Given the description of an element on the screen output the (x, y) to click on. 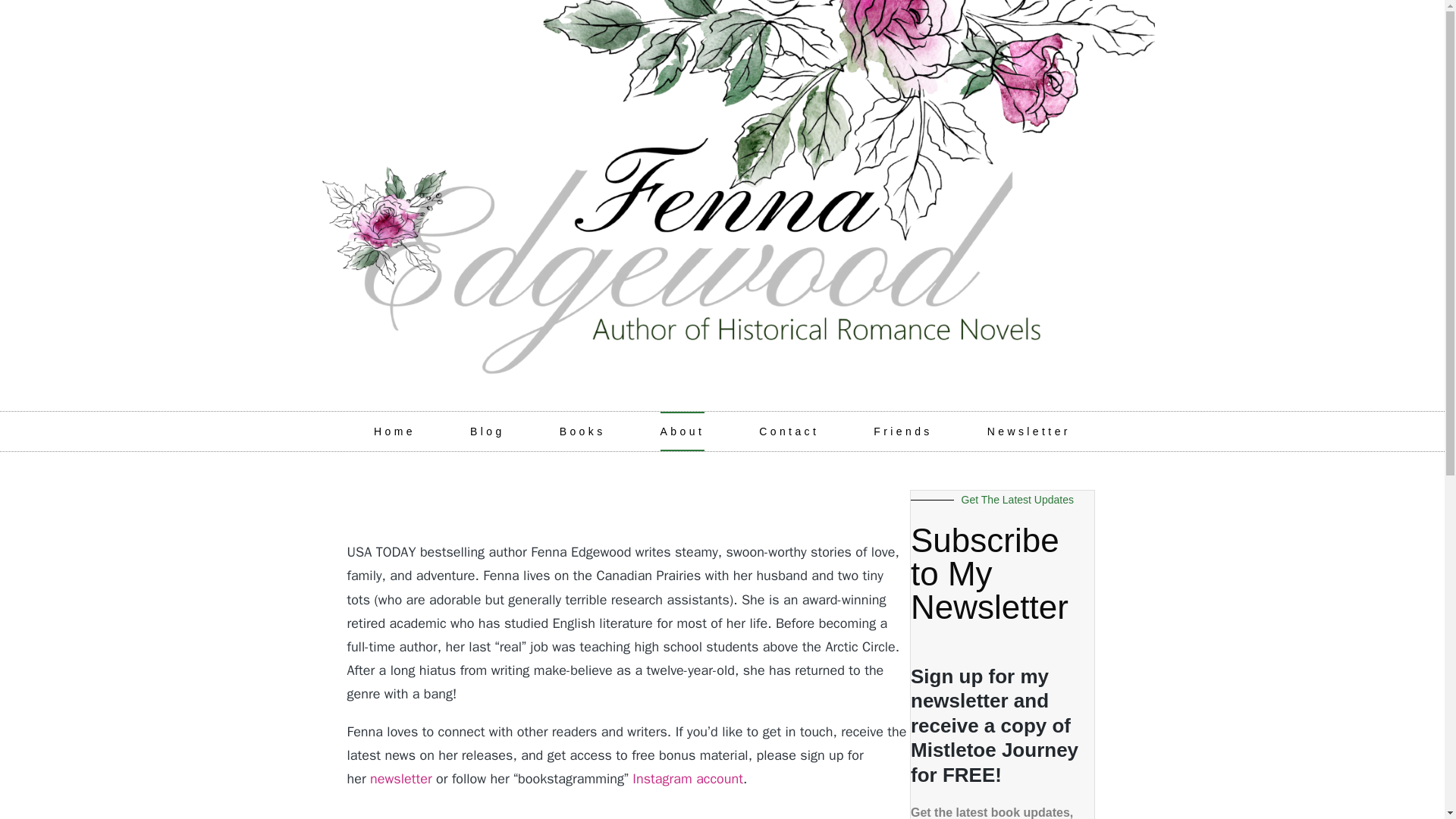
About (682, 431)
Home (394, 431)
newsletter (400, 778)
Books (582, 431)
 Instagram account (685, 778)
Newsletter (1028, 431)
Contact (788, 431)
Friends (902, 431)
